Given the description of an element on the screen output the (x, y) to click on. 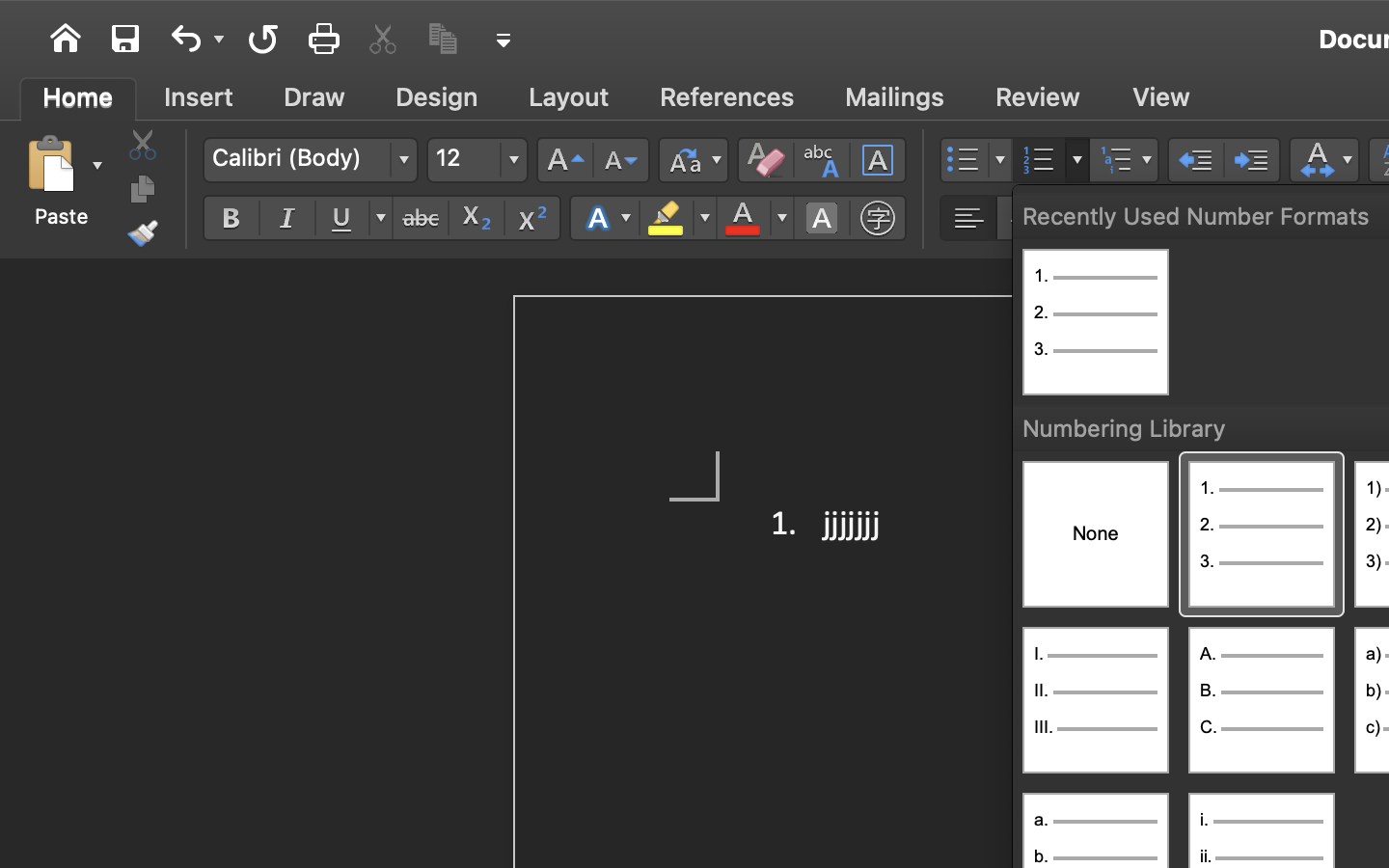
Calibri (Body) Element type: AXComboBox (310, 160)
0 Element type: AXRadioButton (1095, 322)
12 Element type: AXComboBox (477, 160)
1 Element type: AXRadioButton (1261, 534)
